Given the description of an element on the screen output the (x, y) to click on. 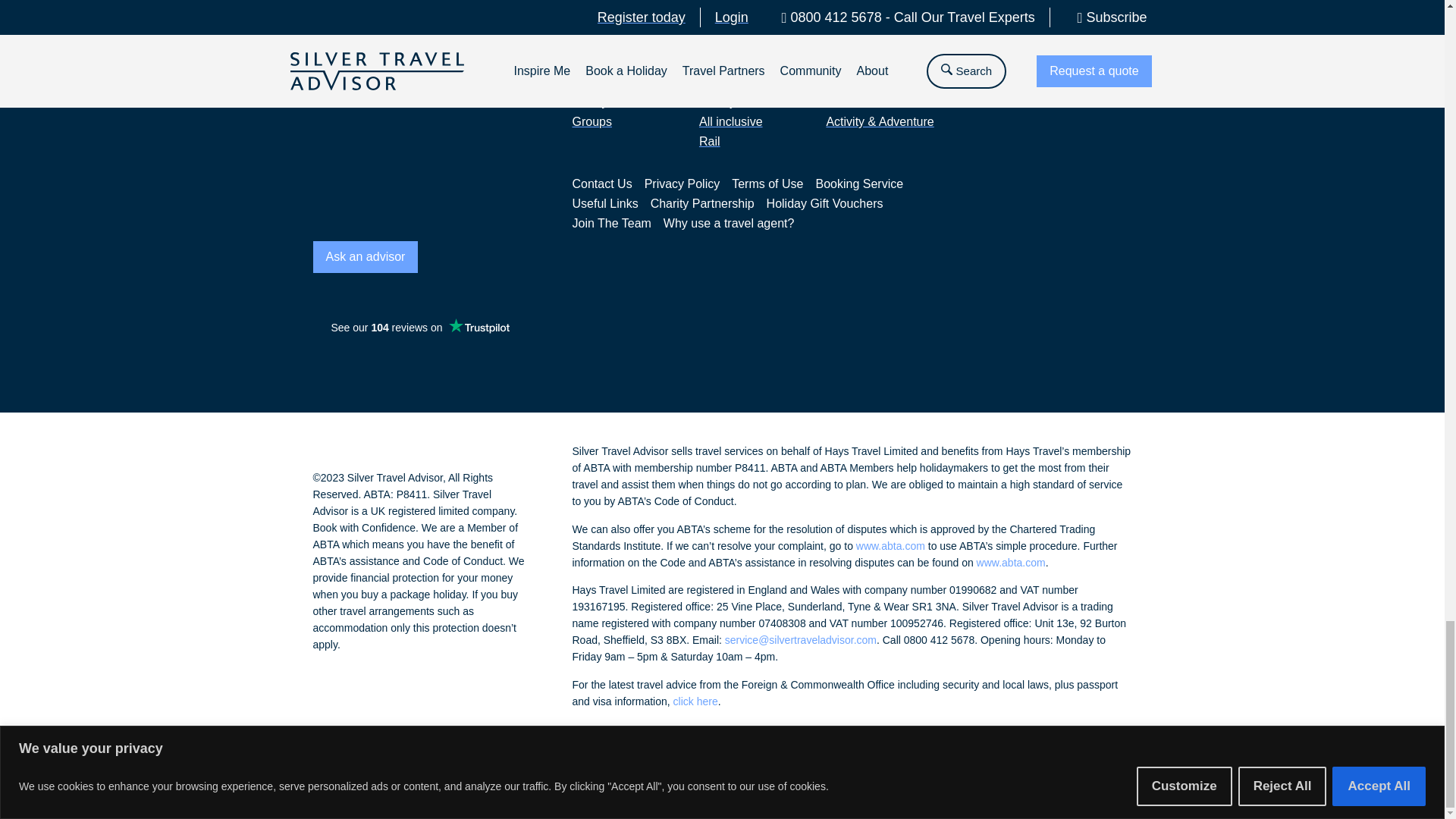
Customer reviews powered by Trustpilot (419, 327)
